Given the description of an element on the screen output the (x, y) to click on. 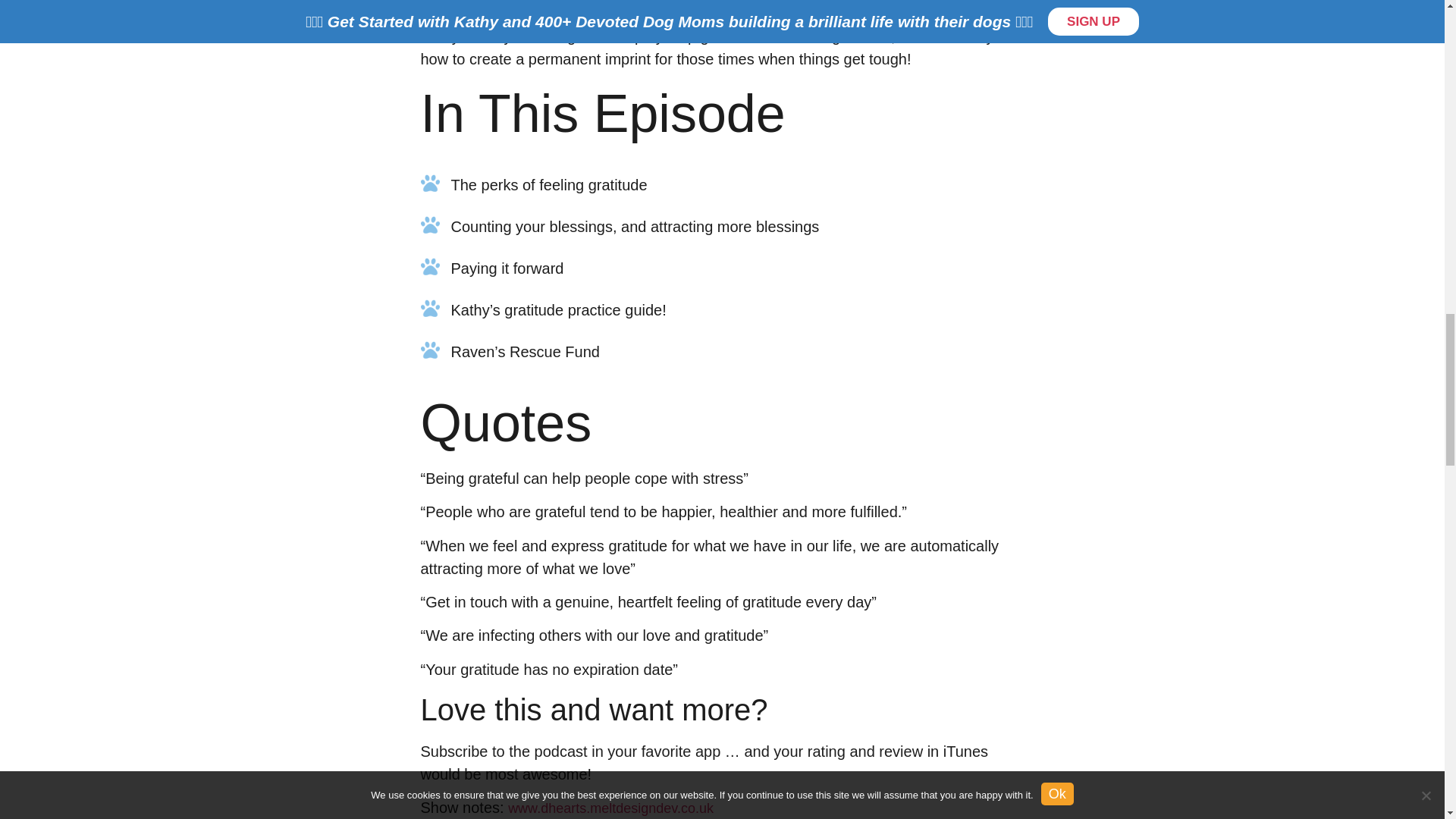
www.dhearts.meltdesigndev.co.uk (610, 807)
